Given the description of an element on the screen output the (x, y) to click on. 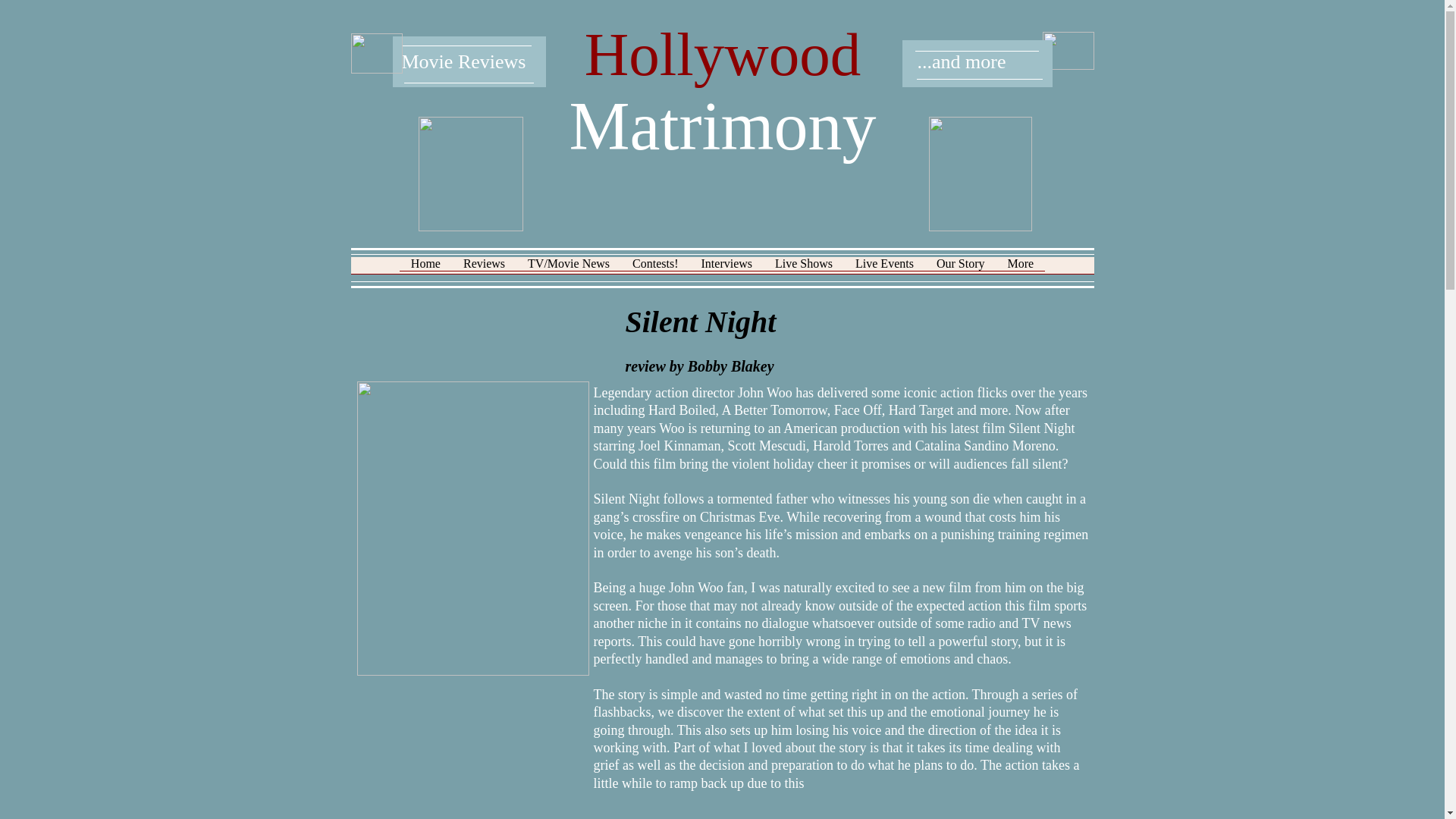
Live Events (884, 270)
Matrimony (722, 125)
Live Shows (803, 270)
Hollywood (723, 54)
Home (424, 270)
Contests! (654, 270)
Our Story (959, 270)
Interviews (727, 270)
